Given the description of an element on the screen output the (x, y) to click on. 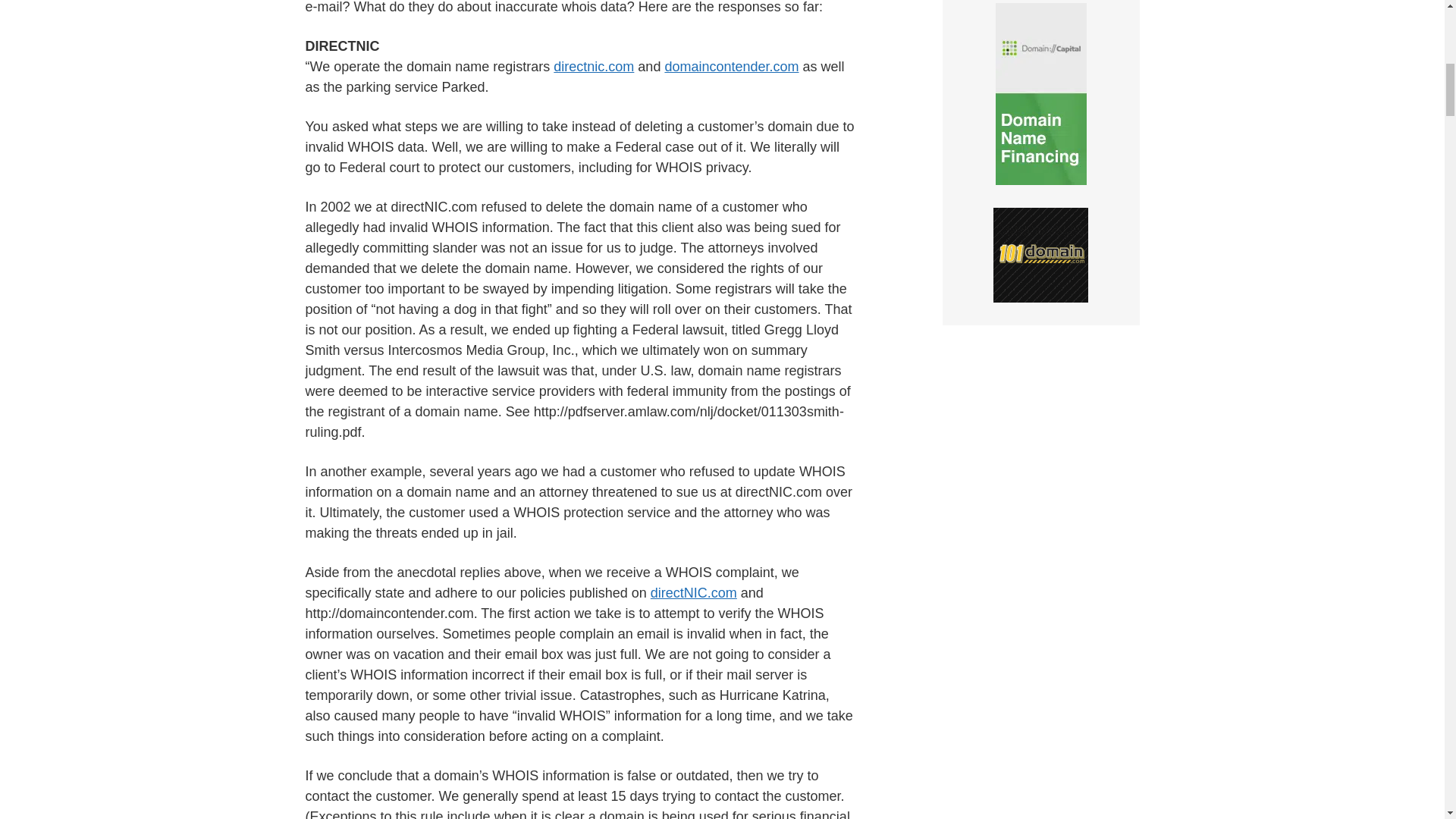
directnic.com (593, 66)
domaincontender.com (730, 66)
directNIC.com (693, 592)
